Given the description of an element on the screen output the (x, y) to click on. 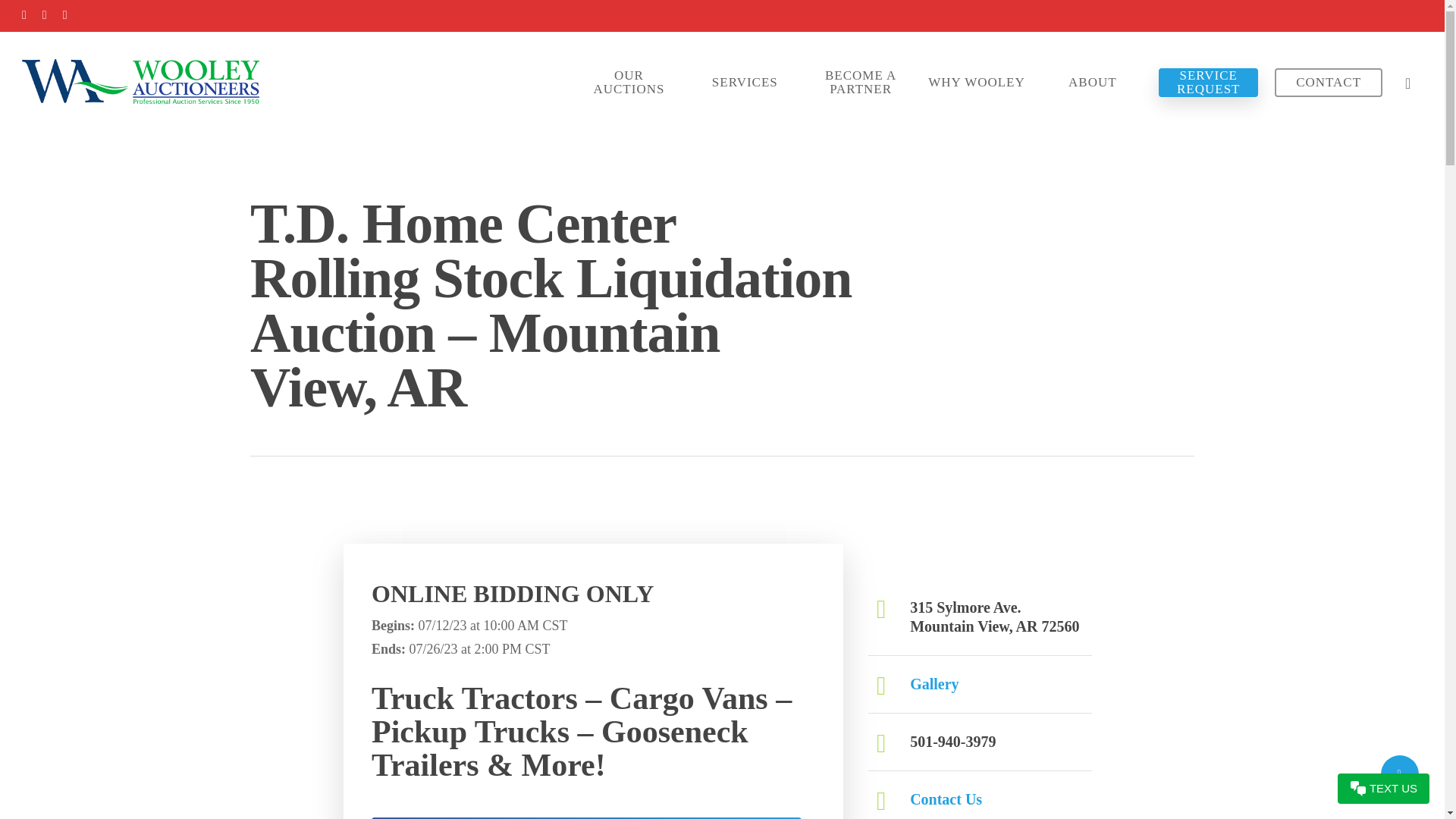
SERVICE REQUEST (1207, 82)
OUR AUCTIONS (628, 82)
SERVICES (744, 82)
BECOME A PARTNER (860, 82)
CONTACT (1328, 82)
ABOUT (1091, 82)
WHY WOOLEY (976, 82)
